Given the description of an element on the screen output the (x, y) to click on. 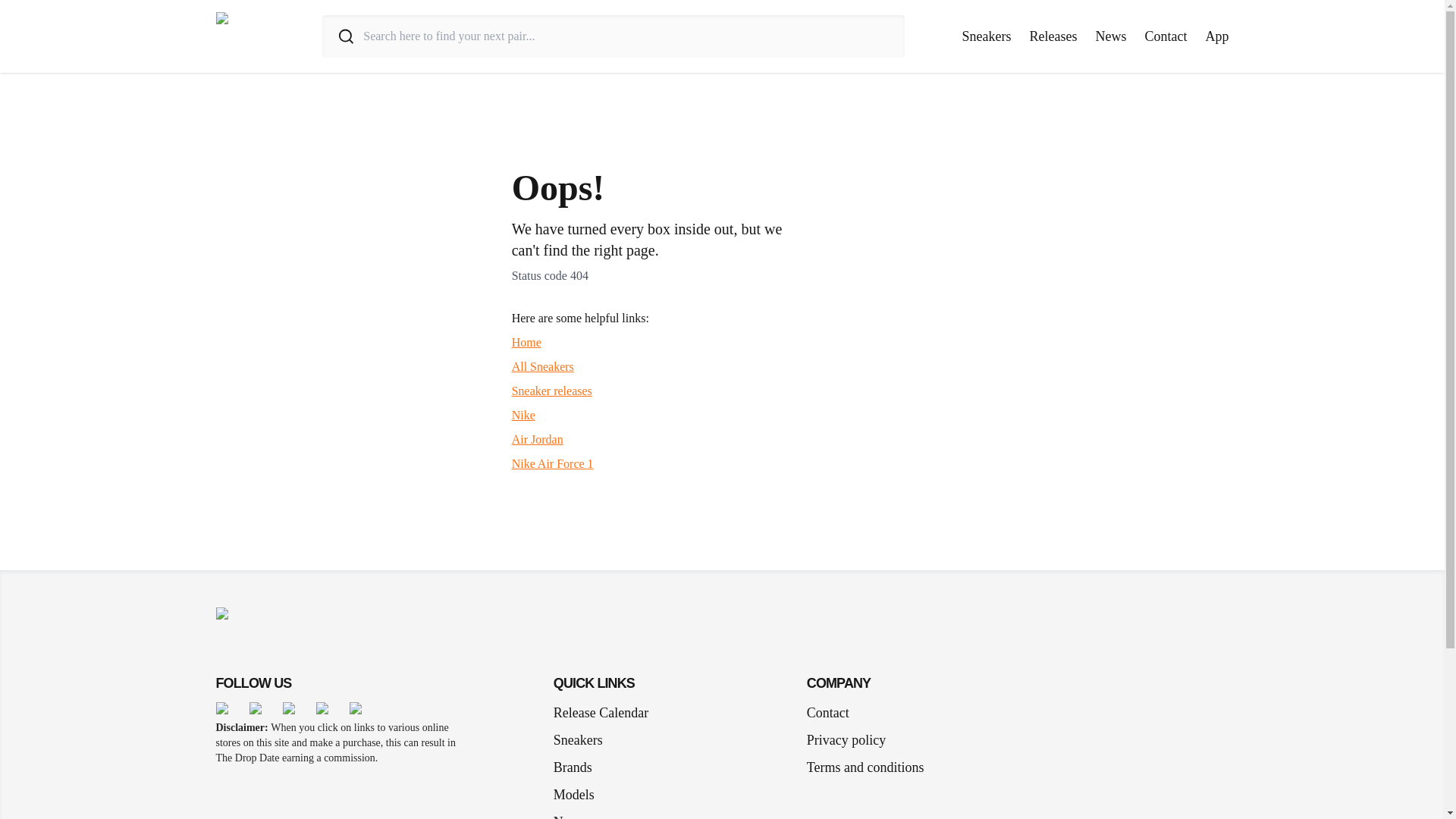
News (574, 810)
Home (526, 341)
Release Calendar (600, 712)
Brands (578, 767)
Releases (1053, 36)
Nike (523, 414)
Sneakers (986, 36)
Air Jordan (537, 439)
Models (580, 794)
Contact (1166, 36)
